Given the description of an element on the screen output the (x, y) to click on. 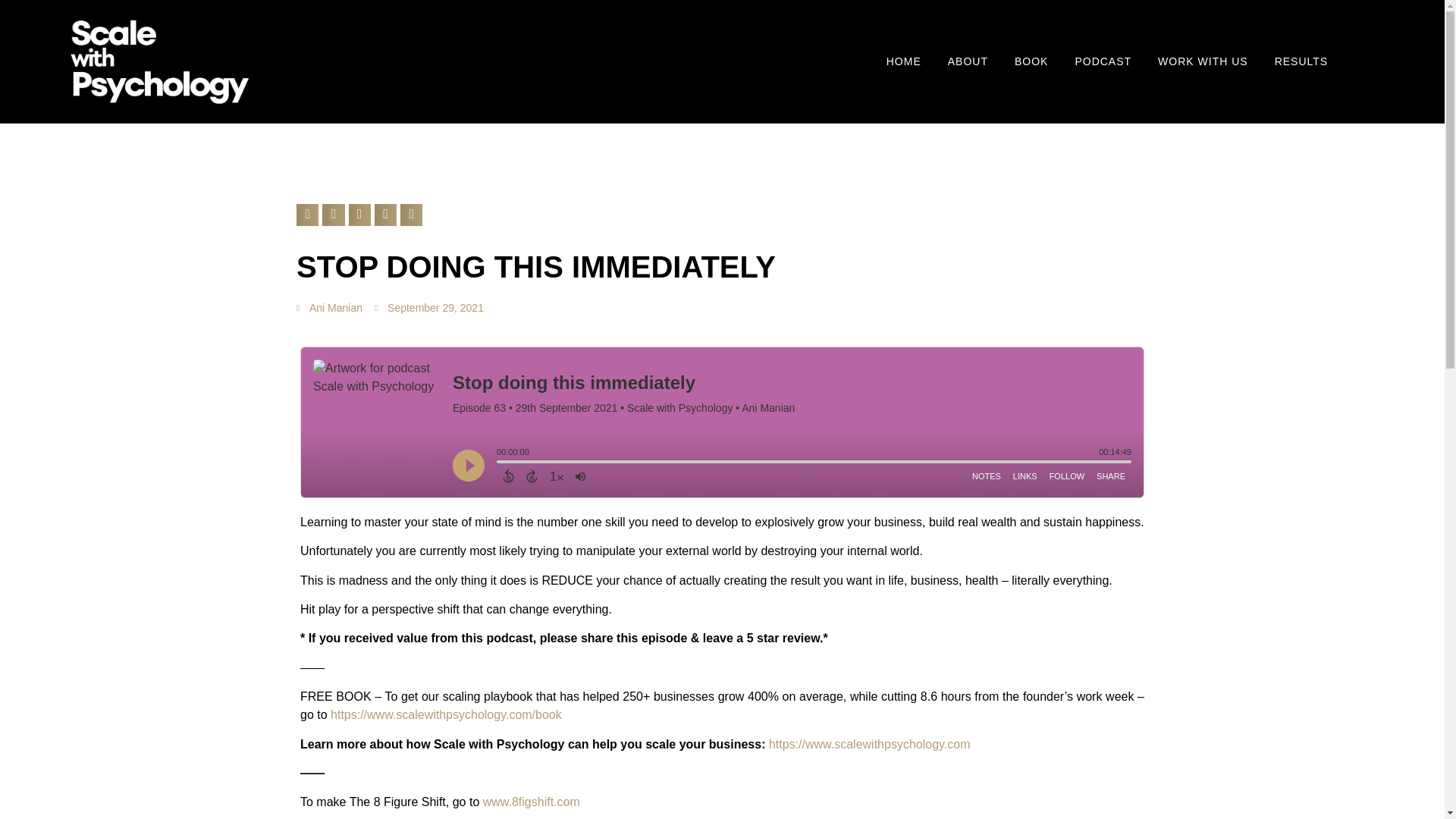
ABOUT (967, 61)
September 29, 2021 (428, 308)
RESULTS (1301, 61)
HOME (903, 61)
Ani Manian (329, 308)
www.8figshift.com (531, 801)
WORK WITH US (1202, 61)
BOOK (1031, 61)
PODCAST (1102, 61)
